Given the description of an element on the screen output the (x, y) to click on. 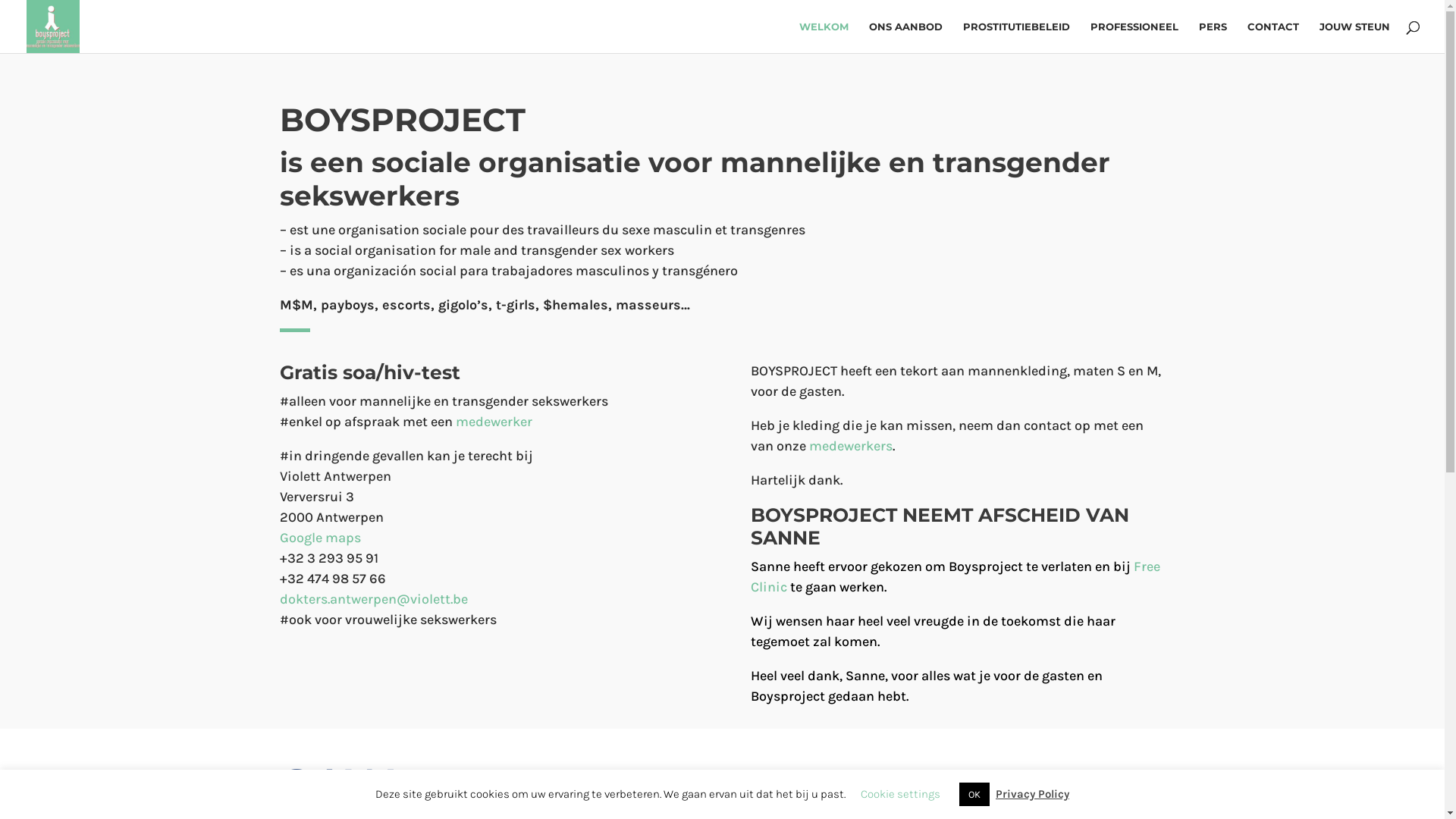
ONS AANBOD Element type: text (905, 37)
medewerker Element type: text (493, 421)
medewerkers Element type: text (850, 445)
Cookie settings Element type: text (900, 793)
WELKOM Element type: text (823, 37)
JOUW STEUN Element type: text (1354, 37)
Google maps Element type: text (319, 537)
PROSTITUTIEBELEID Element type: text (1016, 37)
OK Element type: text (974, 794)
CONTACT Element type: text (1273, 37)
dokters.antwerpen@violett.be Element type: text (373, 598)
Privacy Policy Element type: text (1032, 793)
Free Clinic Element type: text (955, 576)
PERS Element type: text (1212, 37)
PROFESSIONEEL Element type: text (1134, 37)
